Given the description of an element on the screen output the (x, y) to click on. 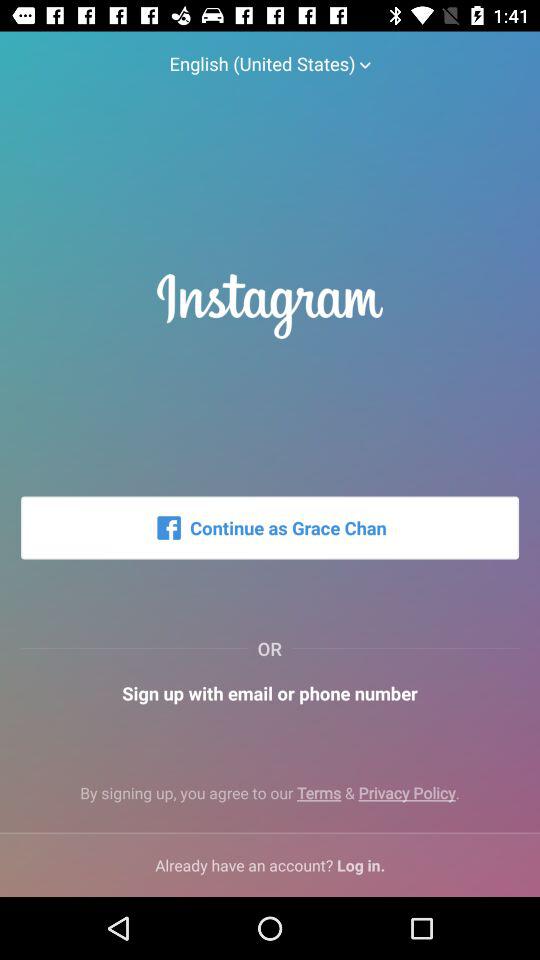
turn off english (united states)   app (269, 53)
